Given the description of an element on the screen output the (x, y) to click on. 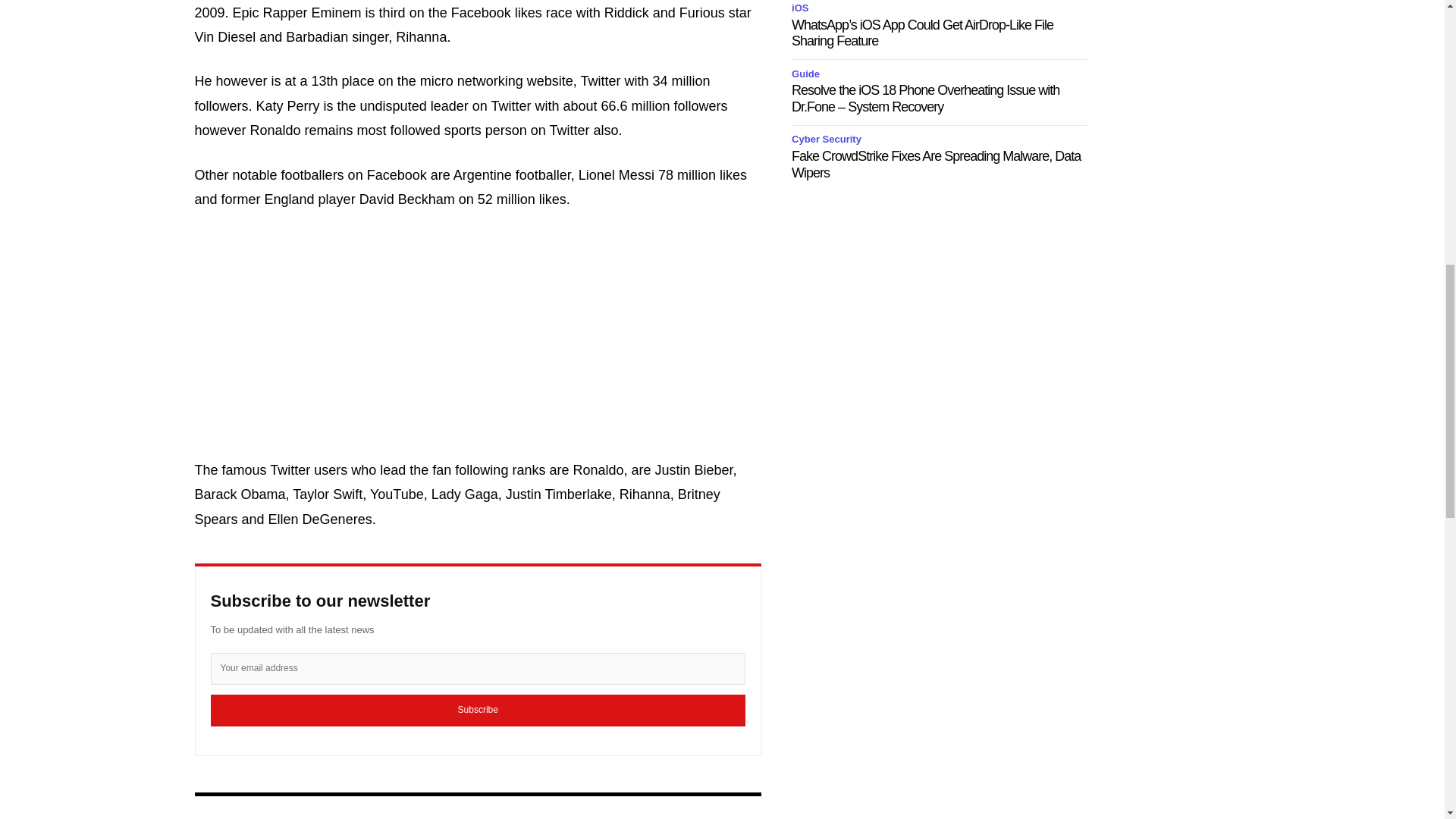
Guide (808, 74)
Subscribe (478, 710)
iOS (802, 8)
